Given the description of an element on the screen output the (x, y) to click on. 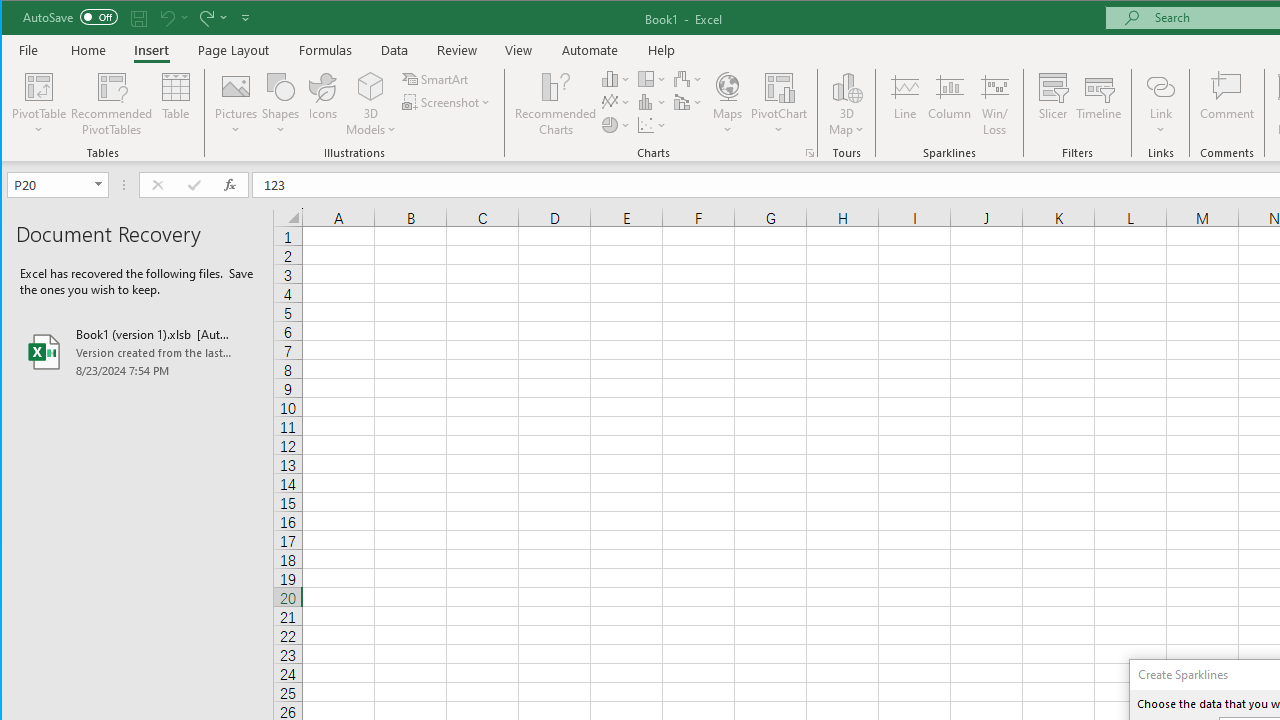
Shapes (280, 104)
Timeline (1098, 104)
Recommended Charts (809, 152)
Slicer... (1052, 104)
3D Map (846, 86)
Insert Column or Bar Chart (616, 78)
Line (904, 104)
Link (1160, 104)
3D Models (371, 86)
Screenshot (447, 101)
SmartArt... (436, 78)
